Given the description of an element on the screen output the (x, y) to click on. 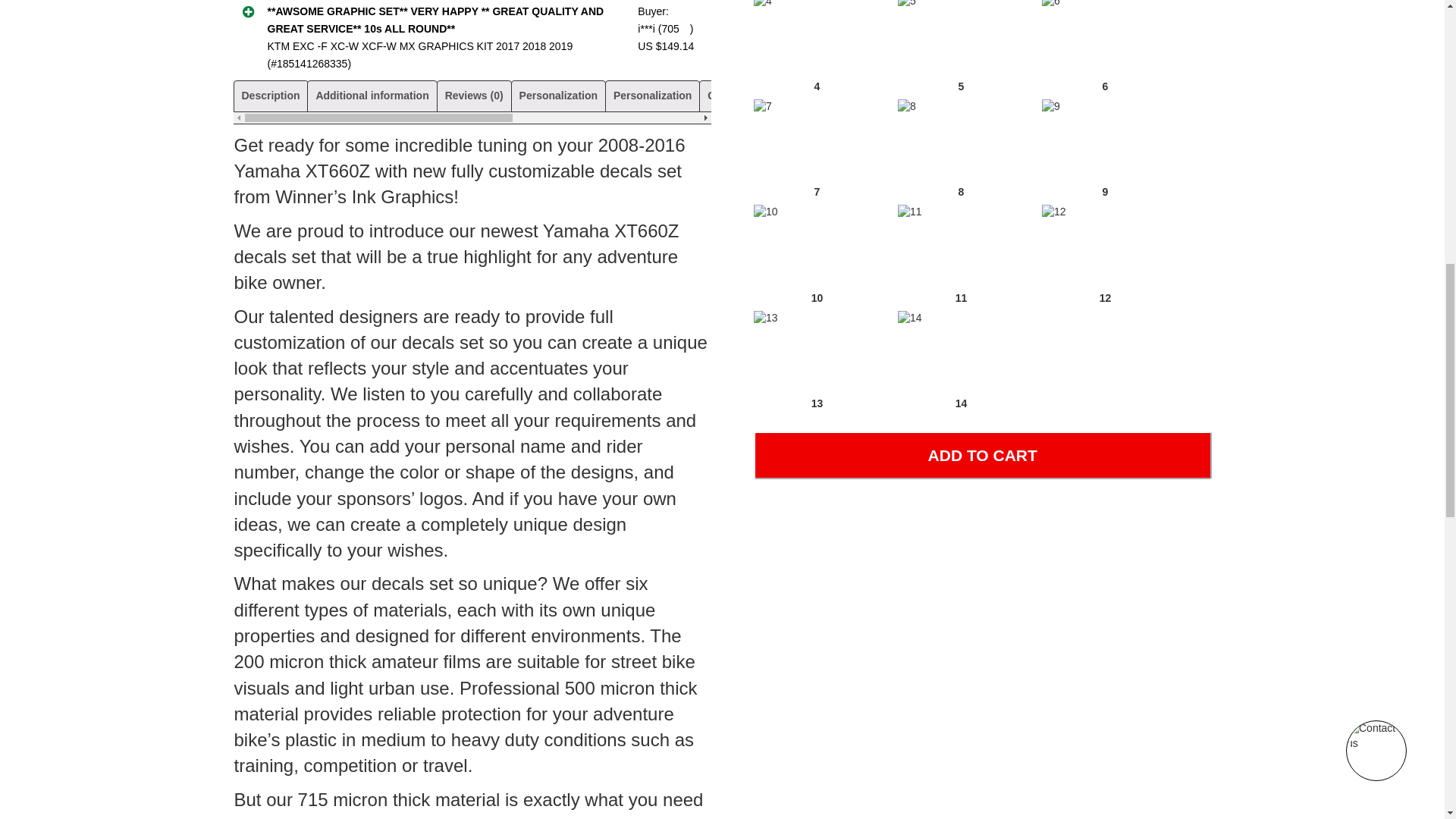
Graphics kit includes: (762, 95)
Additional information (371, 95)
NOTE (1020, 95)
ADD TO CART (982, 455)
Personalization (651, 95)
Personalization (557, 95)
Graphics kit includes: (889, 95)
NOTE (975, 95)
Description (270, 95)
